Given the description of an element on the screen output the (x, y) to click on. 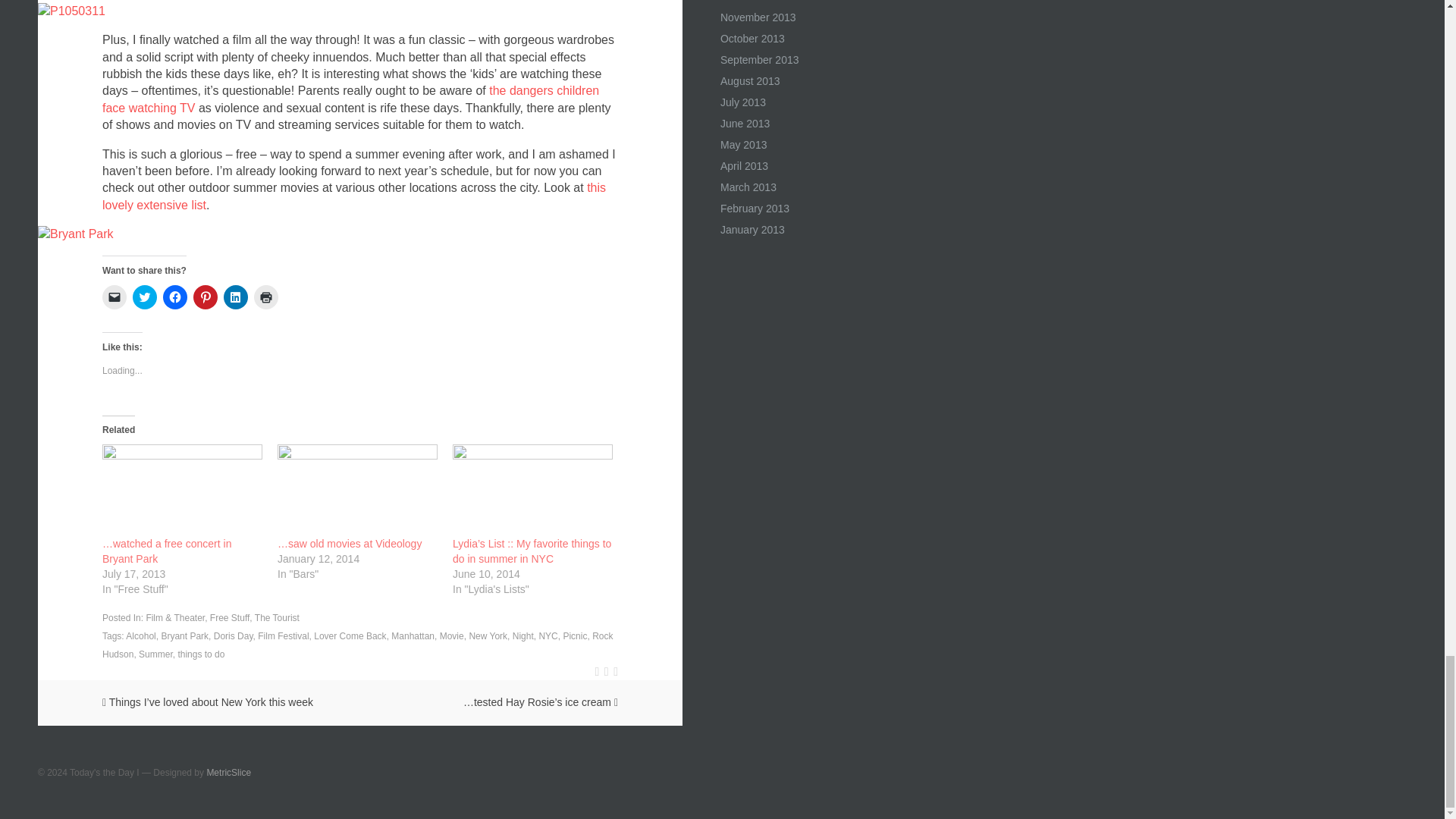
Click to email a link to a friend (113, 297)
the dangers children face watching TV (349, 98)
Click to share on LinkedIn (235, 297)
Click to share on Pinterest (204, 297)
this lovely extensive list (353, 195)
Click to print (265, 297)
Click to share on Twitter (144, 297)
Click to share on Facebook (175, 297)
